Given the description of an element on the screen output the (x, y) to click on. 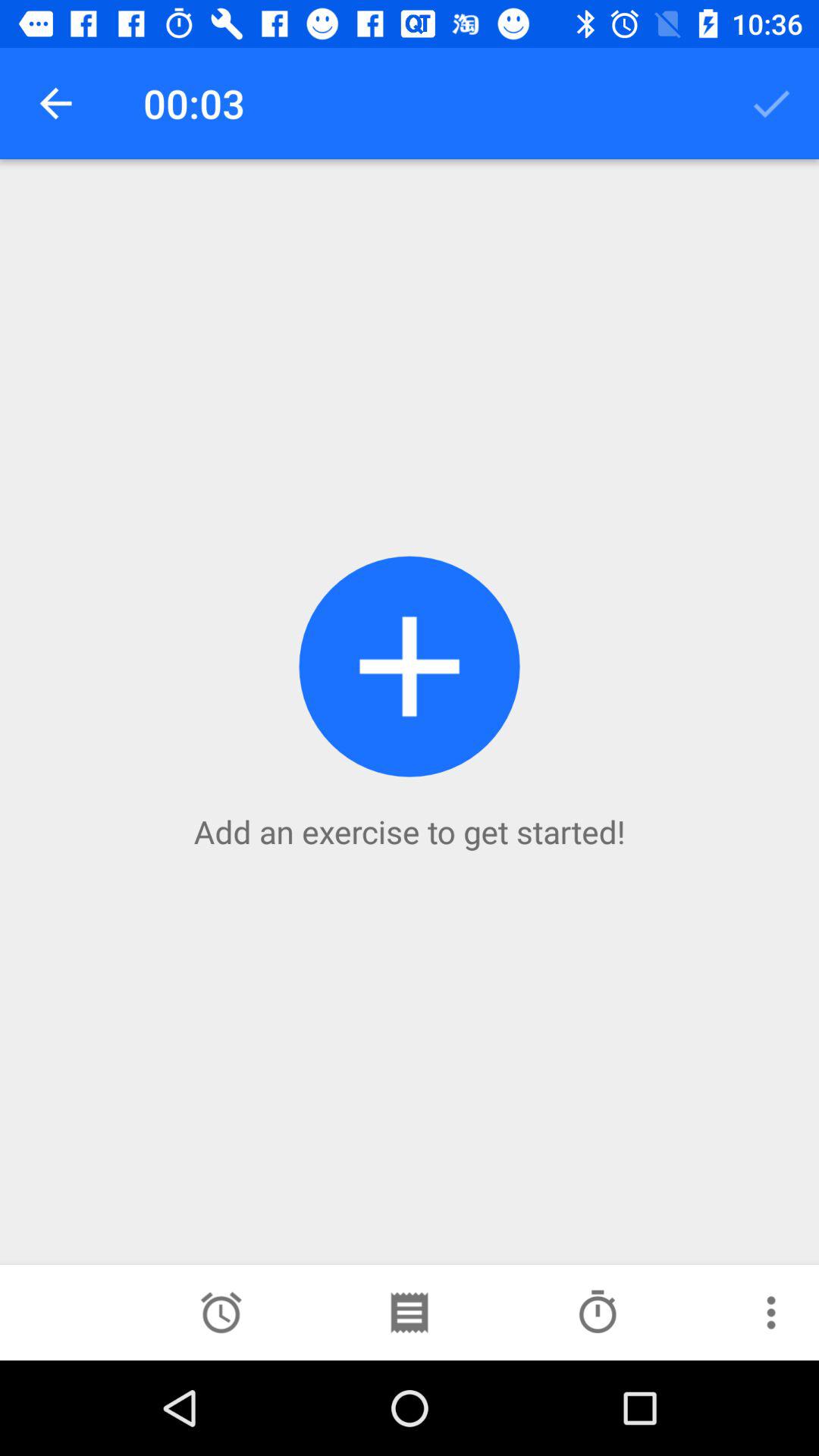
open options (771, 1312)
